Given the description of an element on the screen output the (x, y) to click on. 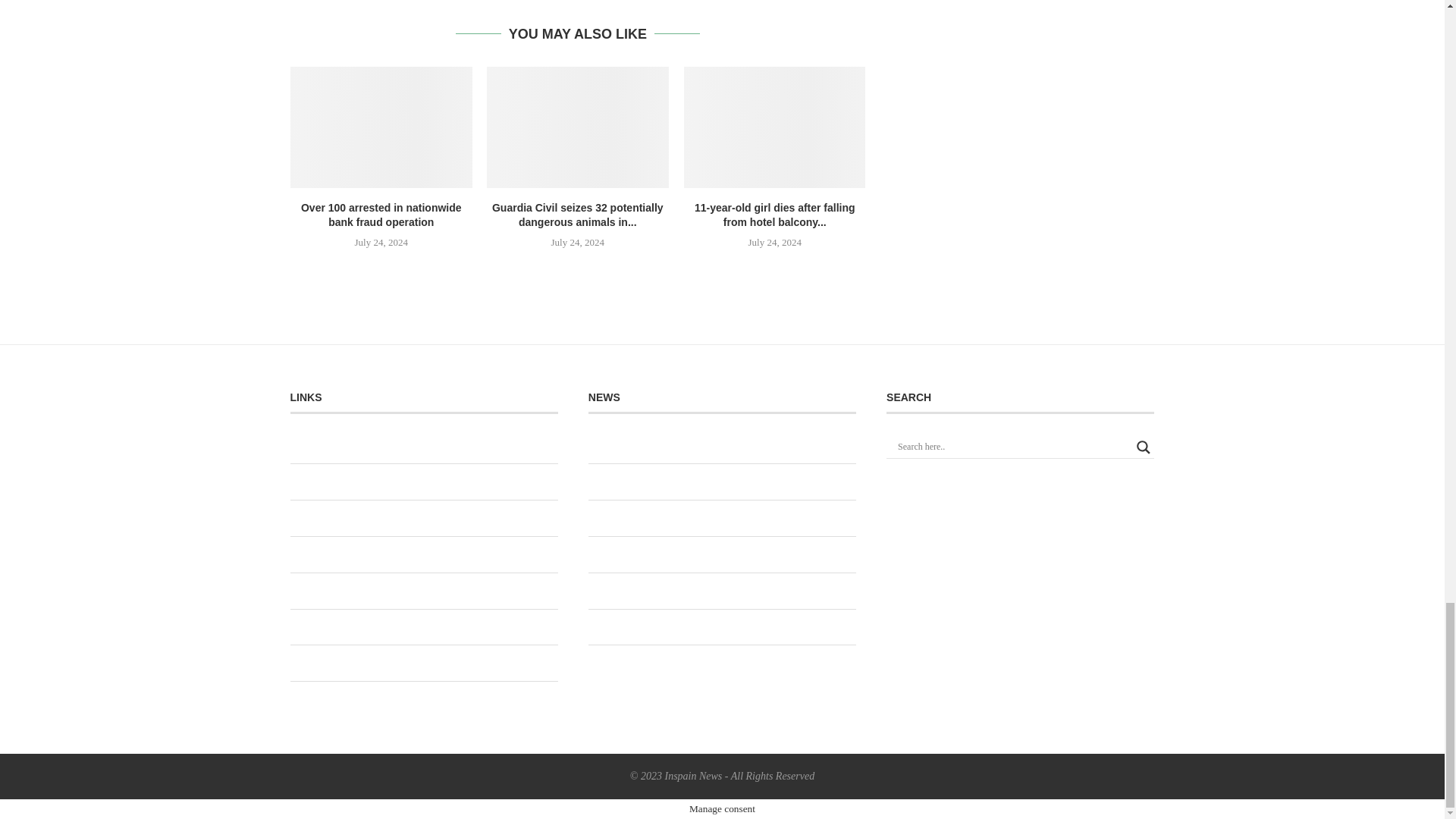
Over 100 arrested in nationwide bank fraud operation (380, 127)
